Given the description of an element on the screen output the (x, y) to click on. 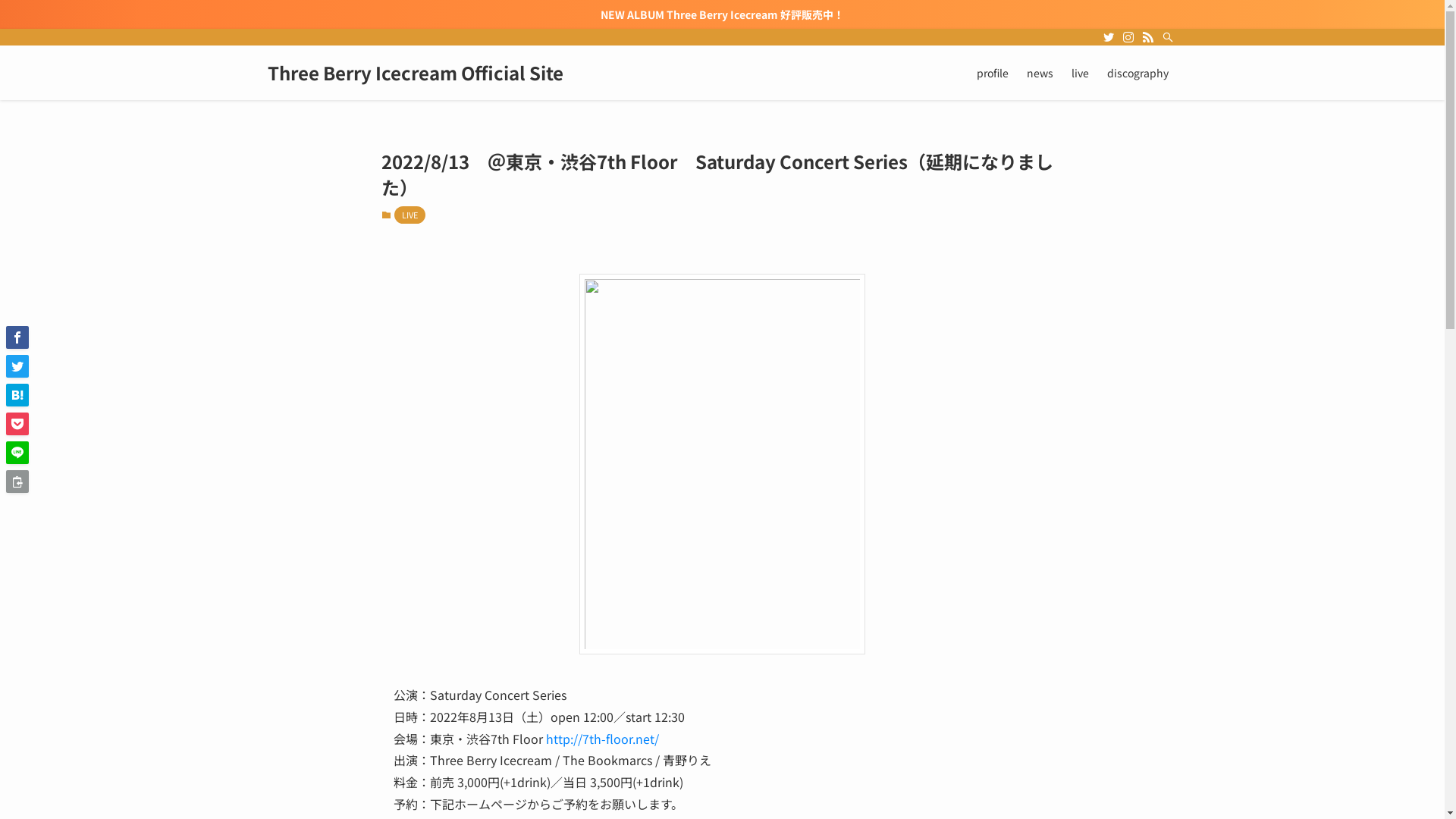
profile Element type: text (992, 72)
Three Berry Icecream Official Site Element type: text (414, 72)
LIVE Element type: text (409, 214)
news Element type: text (1039, 72)
live Element type: text (1079, 72)
http://7th-floor.net/ Element type: text (602, 738)
discography Element type: text (1137, 72)
search Element type: text (921, 421)
